Given the description of an element on the screen output the (x, y) to click on. 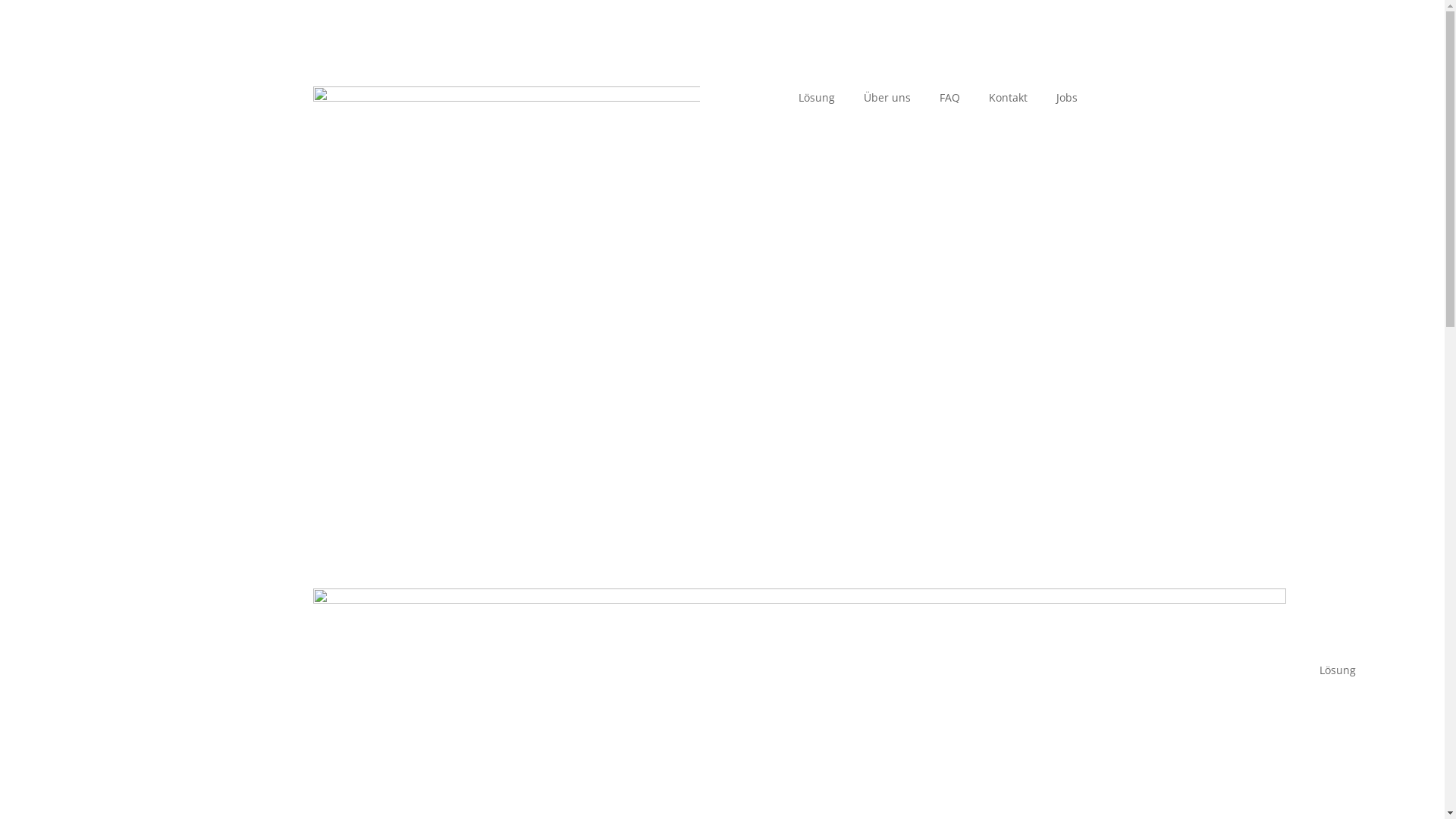
Logo weiss Element type: hover (505, 250)
Kontakt     Element type: text (1013, 100)
Jobs Element type: text (1066, 100)
FAQ     Element type: text (955, 100)
